Given the description of an element on the screen output the (x, y) to click on. 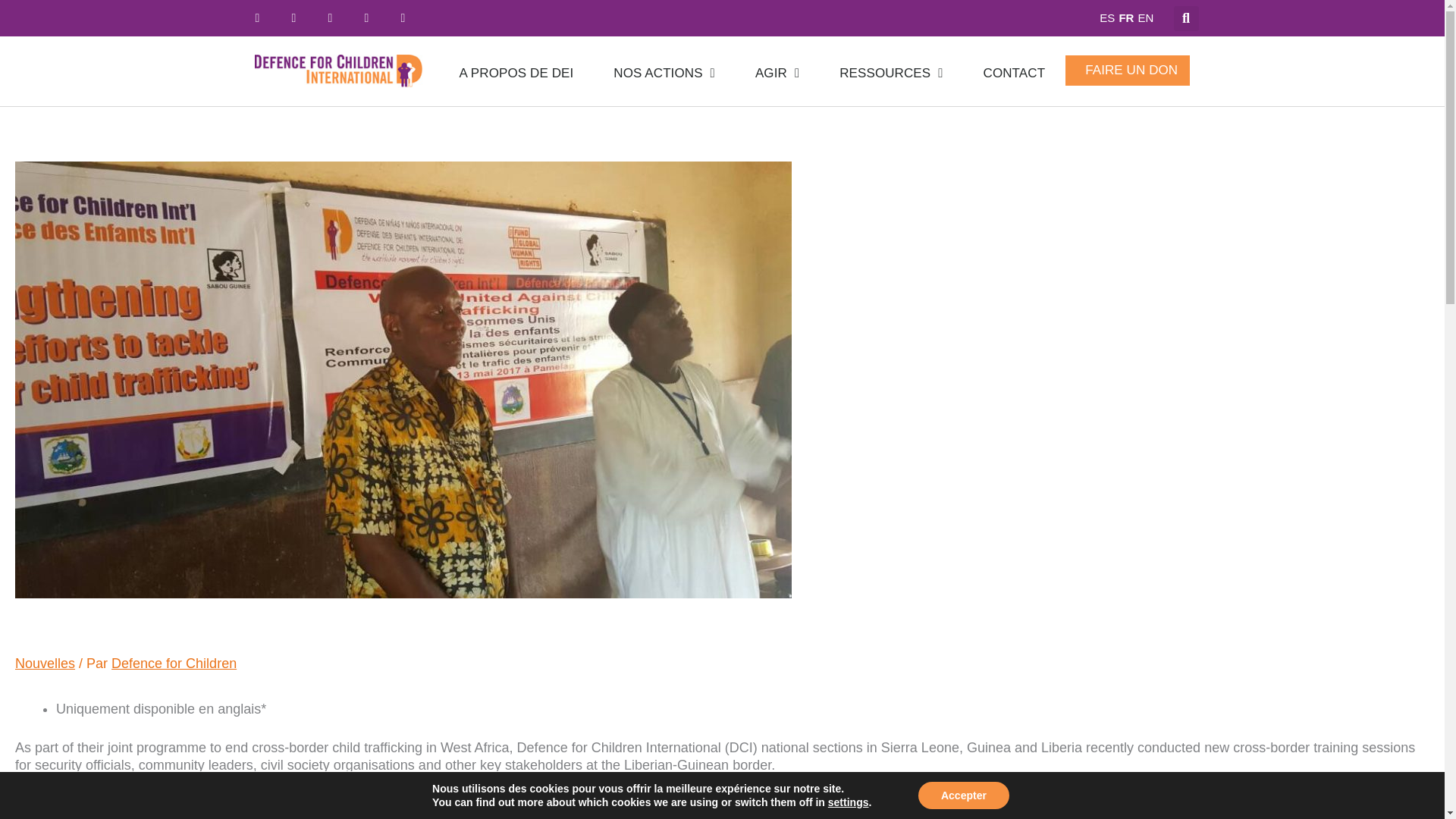
CONTACT (1014, 72)
EN (1143, 17)
ES (1105, 17)
Voir toutes les publications de Defence for Children (173, 663)
AGIR (776, 72)
FAIRE UN DON (1131, 70)
A PROPOS DE DEI (516, 72)
RESSOURCES (891, 72)
NOS ACTIONS (663, 72)
FR (1124, 17)
